Given the description of an element on the screen output the (x, y) to click on. 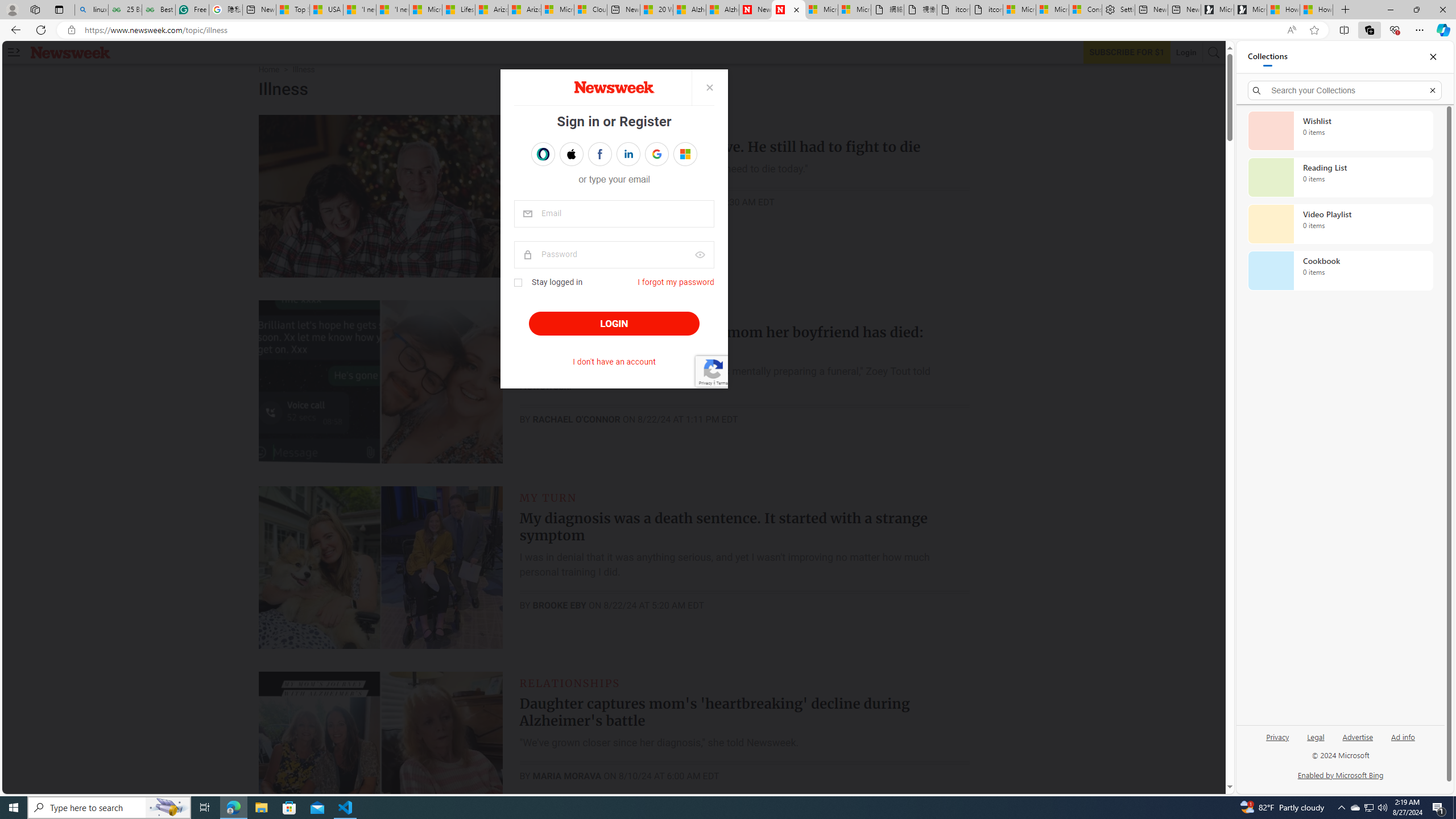
Reading List collection, 0 items (1339, 177)
Top Stories - MSN (292, 9)
Sign in as Eugene EugeneLedger601@outlook.com (684, 154)
Best SSL Certificates Provider in India - GeeksforGeeks (158, 9)
Microsoft (684, 153)
Class: checkbox (517, 282)
Cookbook collection, 0 items (1339, 270)
